Given the description of an element on the screen output the (x, y) to click on. 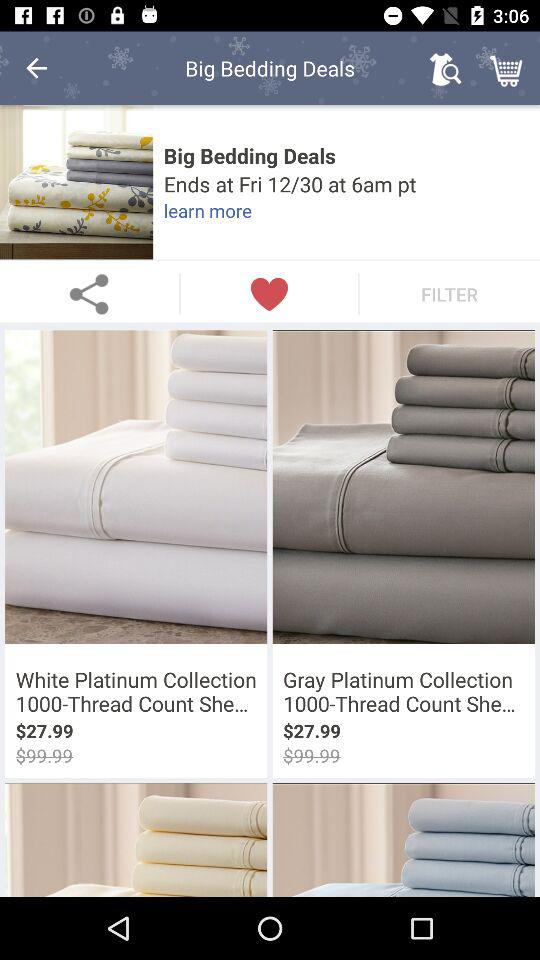
share the product (89, 294)
